Given the description of an element on the screen output the (x, y) to click on. 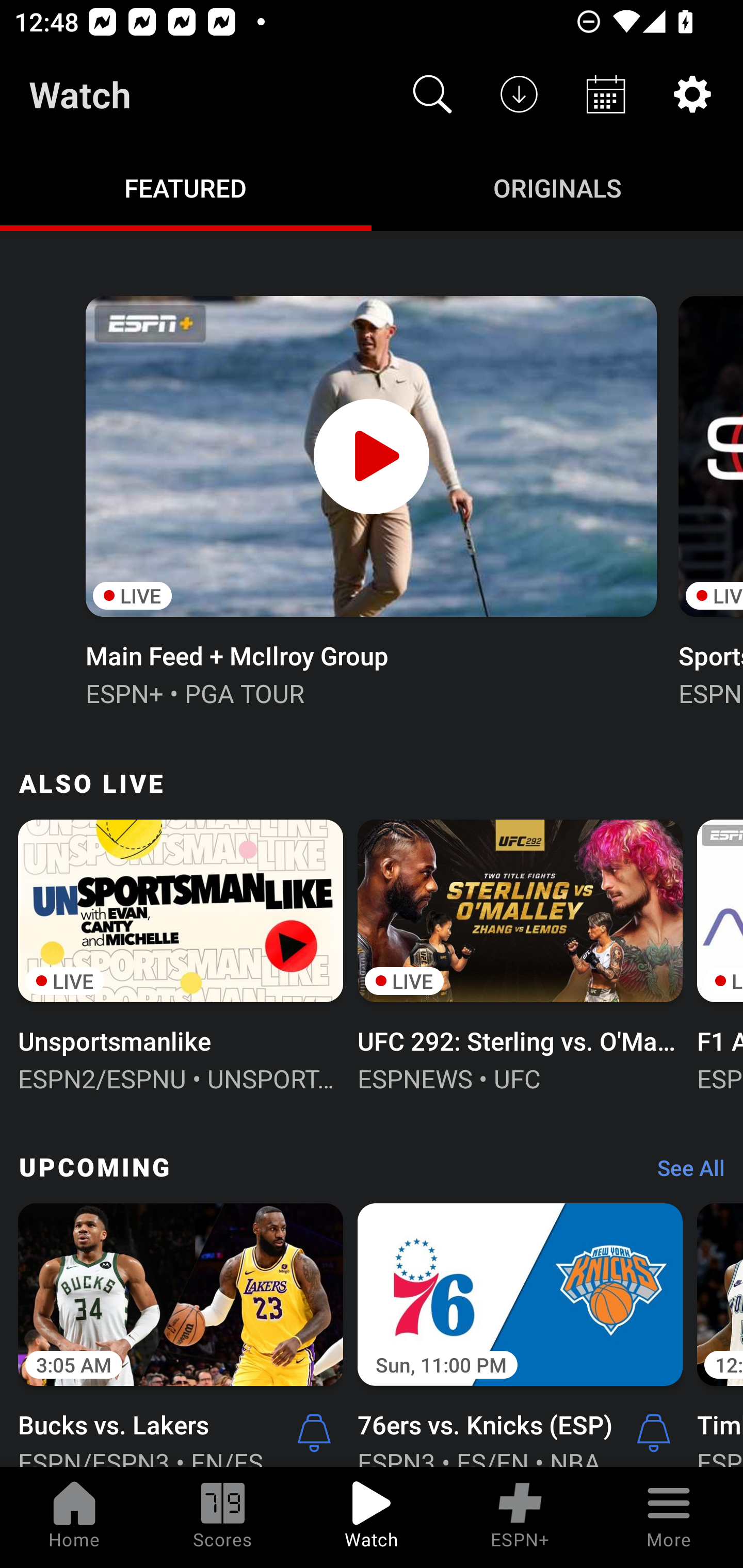
Search (432, 93)
Downloads (518, 93)
Schedule (605, 93)
Settings (692, 93)
Originals ORIGINALS (557, 187)
 LIVE Main Feed + McIlroy Group ESPN+ • PGA TOUR (370, 499)
LIVE UFC 292: Sterling vs. O'Malley ESPNEWS • UFC (519, 954)
See All (683, 1172)
Alerts (314, 1432)
Alerts (653, 1432)
Home (74, 1517)
Scores (222, 1517)
ESPN+ (519, 1517)
More (668, 1517)
